Given the description of an element on the screen output the (x, y) to click on. 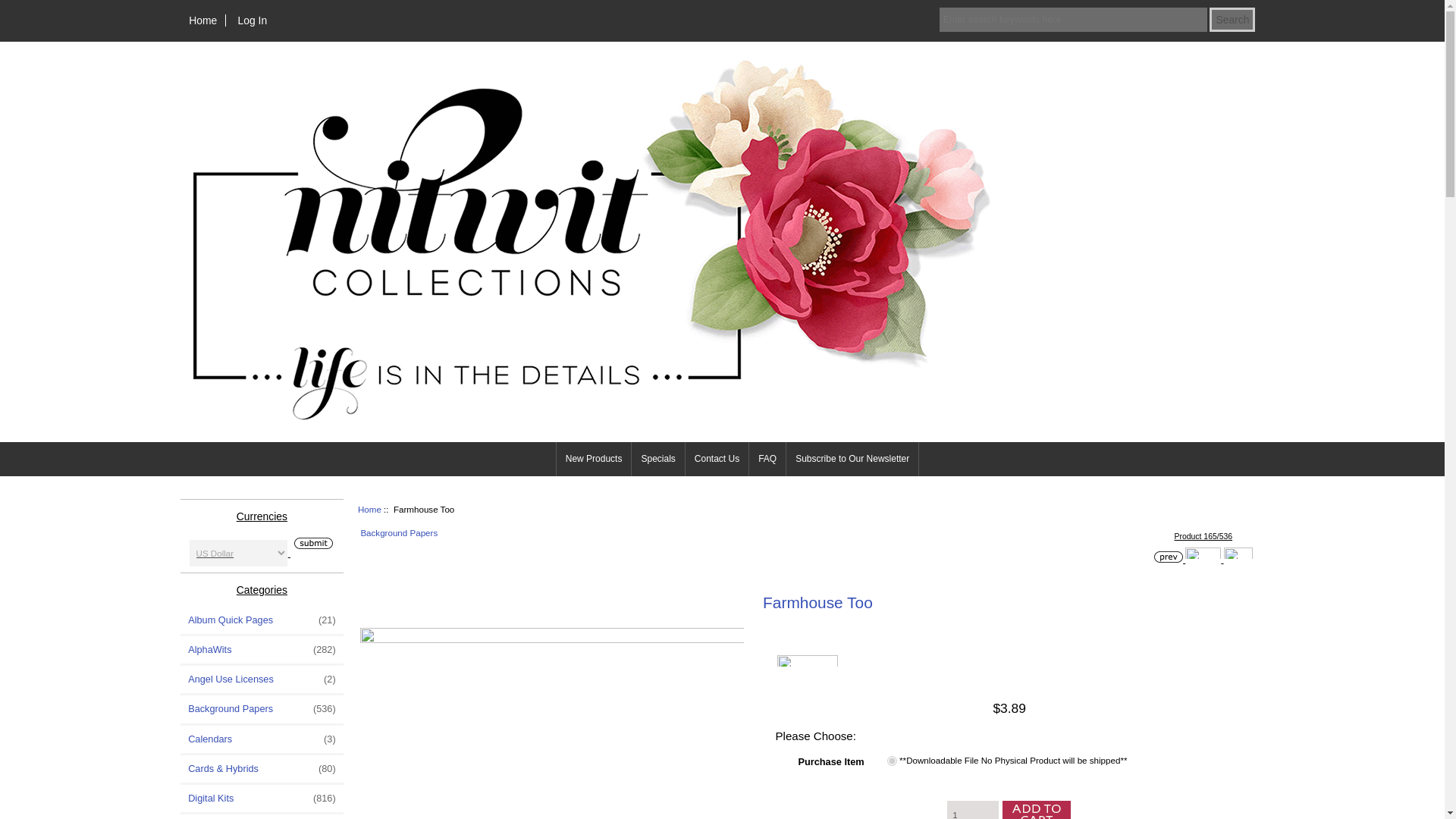
Add to Cart (1034, 809)
New Products (593, 458)
Ask a Question (807, 660)
Farmhouse Too (551, 723)
Search (1232, 19)
Log In (251, 20)
Contact Us (716, 458)
Go (311, 542)
Home (202, 20)
FAQ (767, 458)
Next (1238, 552)
1 (972, 809)
Return to the Product List (1203, 552)
Previous (1168, 556)
1 (891, 760)
